Given the description of an element on the screen output the (x, y) to click on. 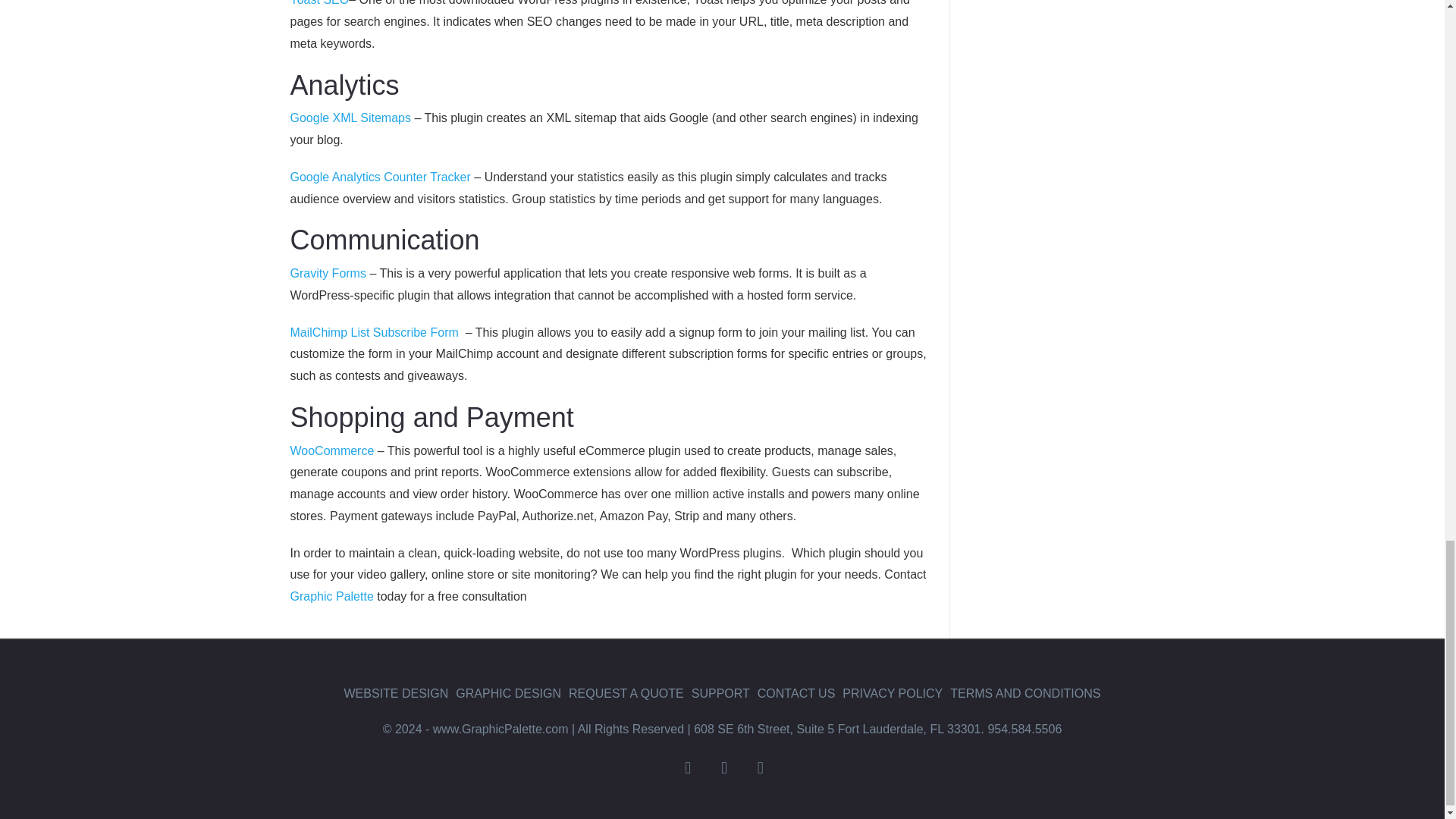
Google Analytics Counter Tracker (379, 176)
Graphic Palette (330, 595)
WooCommerce (331, 450)
Yoast SEO (319, 2)
Follow us on Twitter (724, 767)
Google XML Sitemaps (349, 117)
Gravity Forms (327, 273)
MailChimp List Subscribe Form  (375, 332)
Like Our Facebook Page (687, 767)
